Given the description of an element on the screen output the (x, y) to click on. 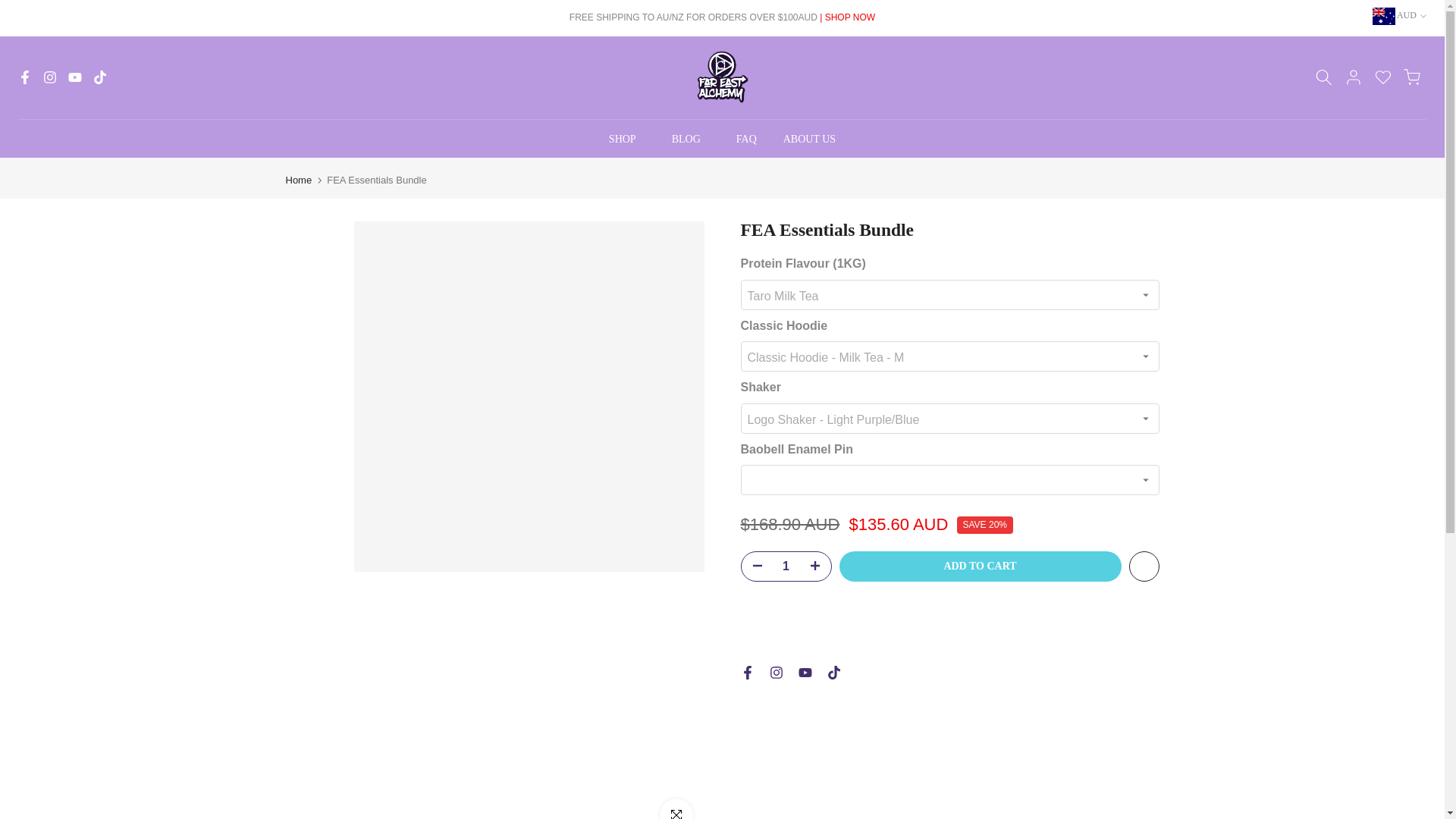
Follow on YouTube (803, 672)
ADD TO CART (979, 566)
SHOP NOW (850, 17)
Follow on Instagram (775, 672)
Follow on Facebook (746, 672)
ABOUT US (809, 139)
SHOP (626, 139)
FAQ (746, 139)
Shop All Products (850, 17)
Home (298, 180)
